Given the description of an element on the screen output the (x, y) to click on. 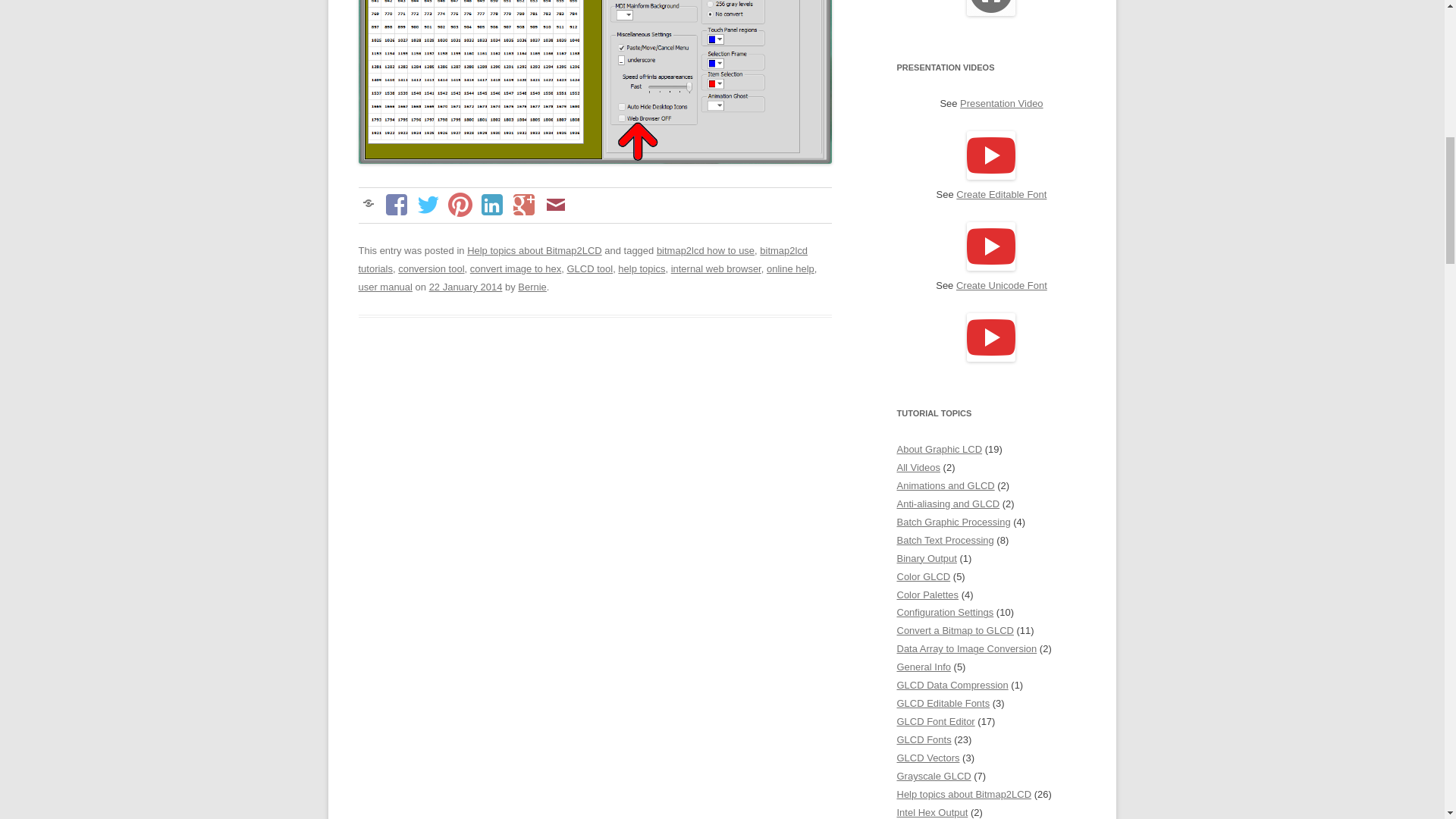
All Videos (918, 467)
Create Editable Font (1001, 194)
Help topics about Bitmap2LCD (534, 250)
Presentation Video (1001, 102)
bitmap2lcd how to use (705, 250)
bitmap2lcd tutorials (583, 259)
online help (790, 268)
22 January 2014 (465, 286)
user manual (385, 286)
About Graphic LCD (938, 449)
Bernie (532, 286)
Create Unicode Font (1001, 285)
9 h 41 min (465, 286)
convert image to hex (516, 268)
conversion tool (430, 268)
